Given the description of an element on the screen output the (x, y) to click on. 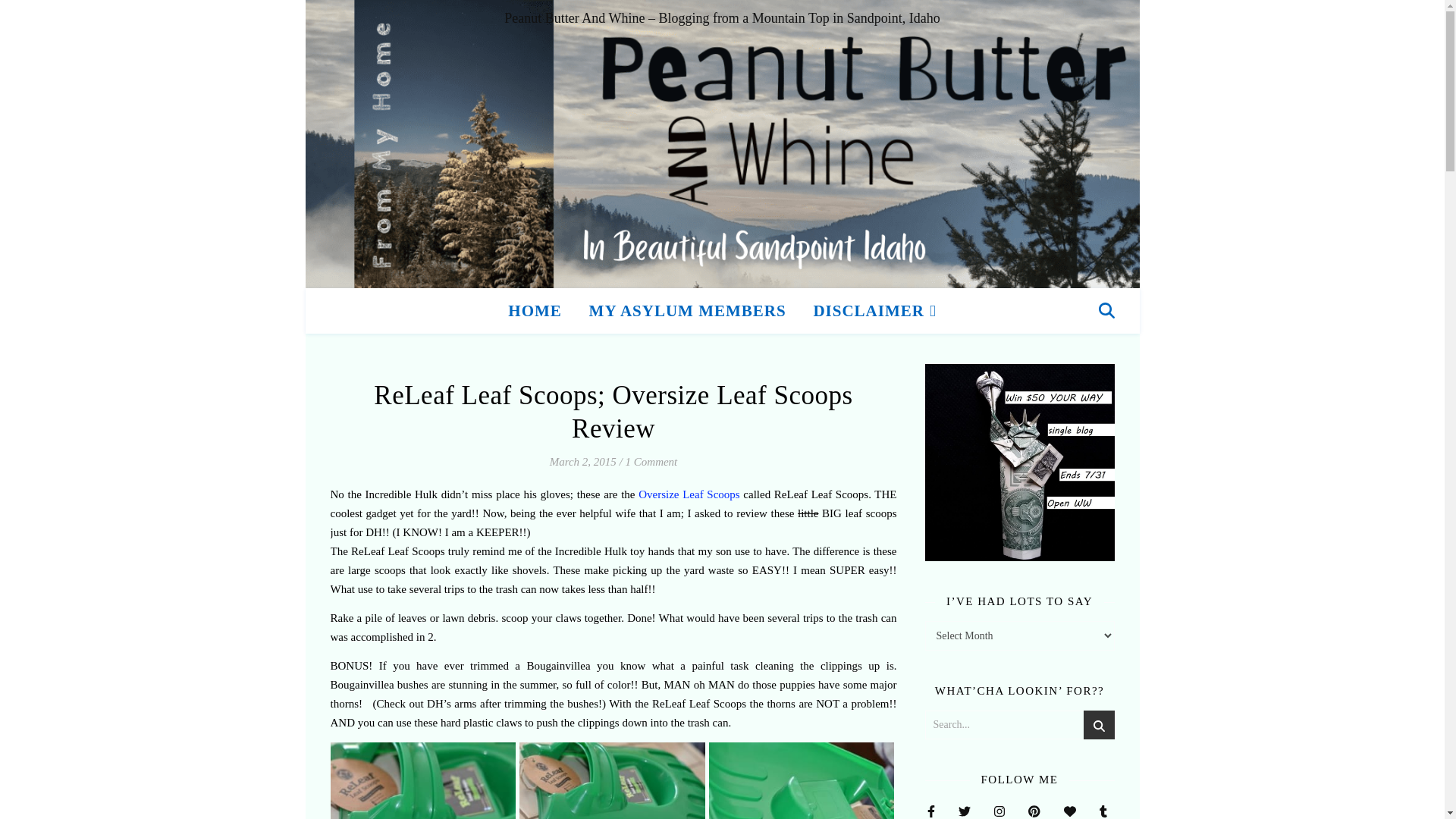
HOME (540, 310)
Oversize Leaf Scoops (689, 494)
DISCLAIMER (868, 310)
MY ASYLUM MEMBERS (686, 310)
1 Comment (652, 461)
